Given the description of an element on the screen output the (x, y) to click on. 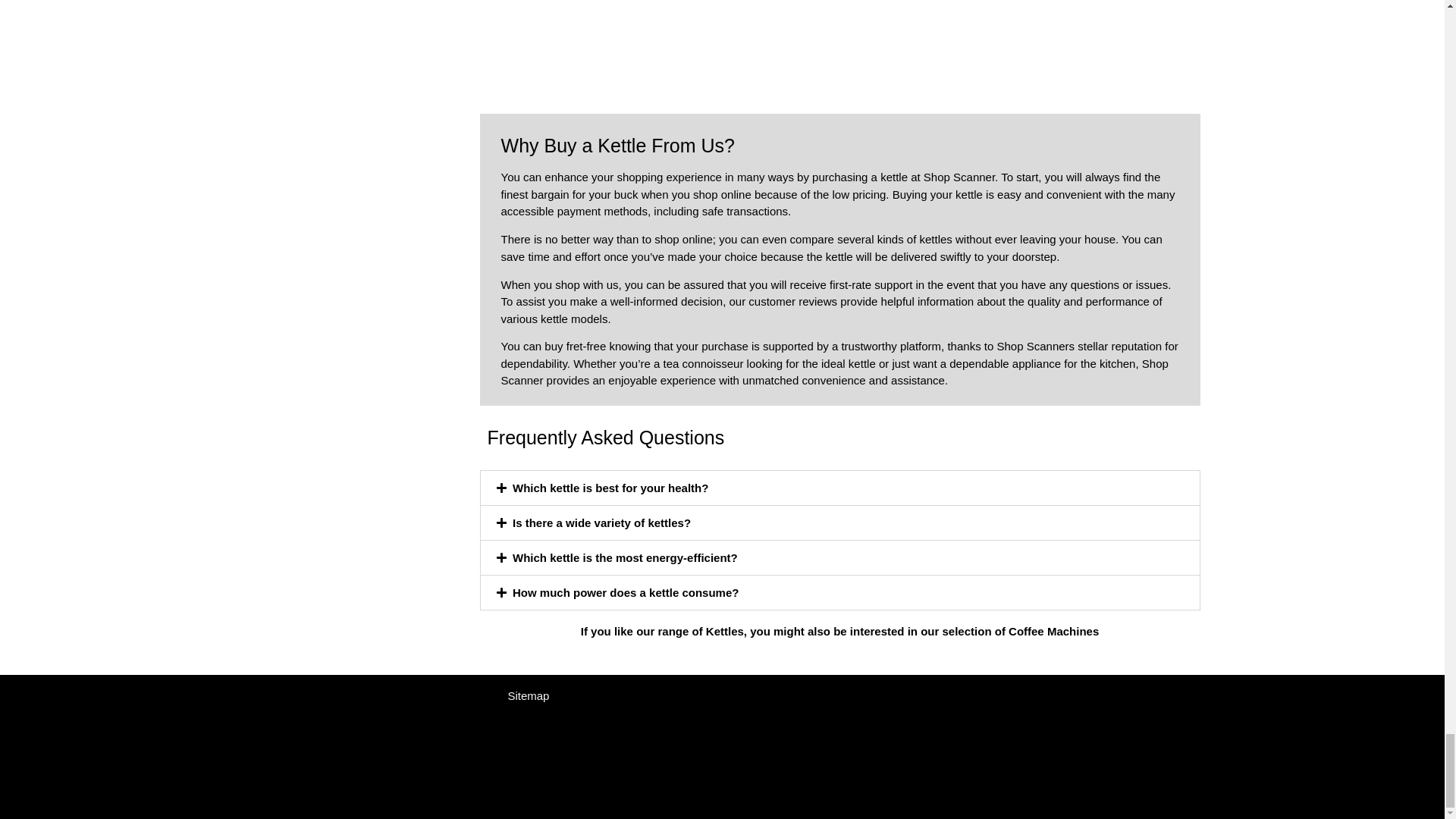
Scanners (1050, 345)
